Given the description of an element on the screen output the (x, y) to click on. 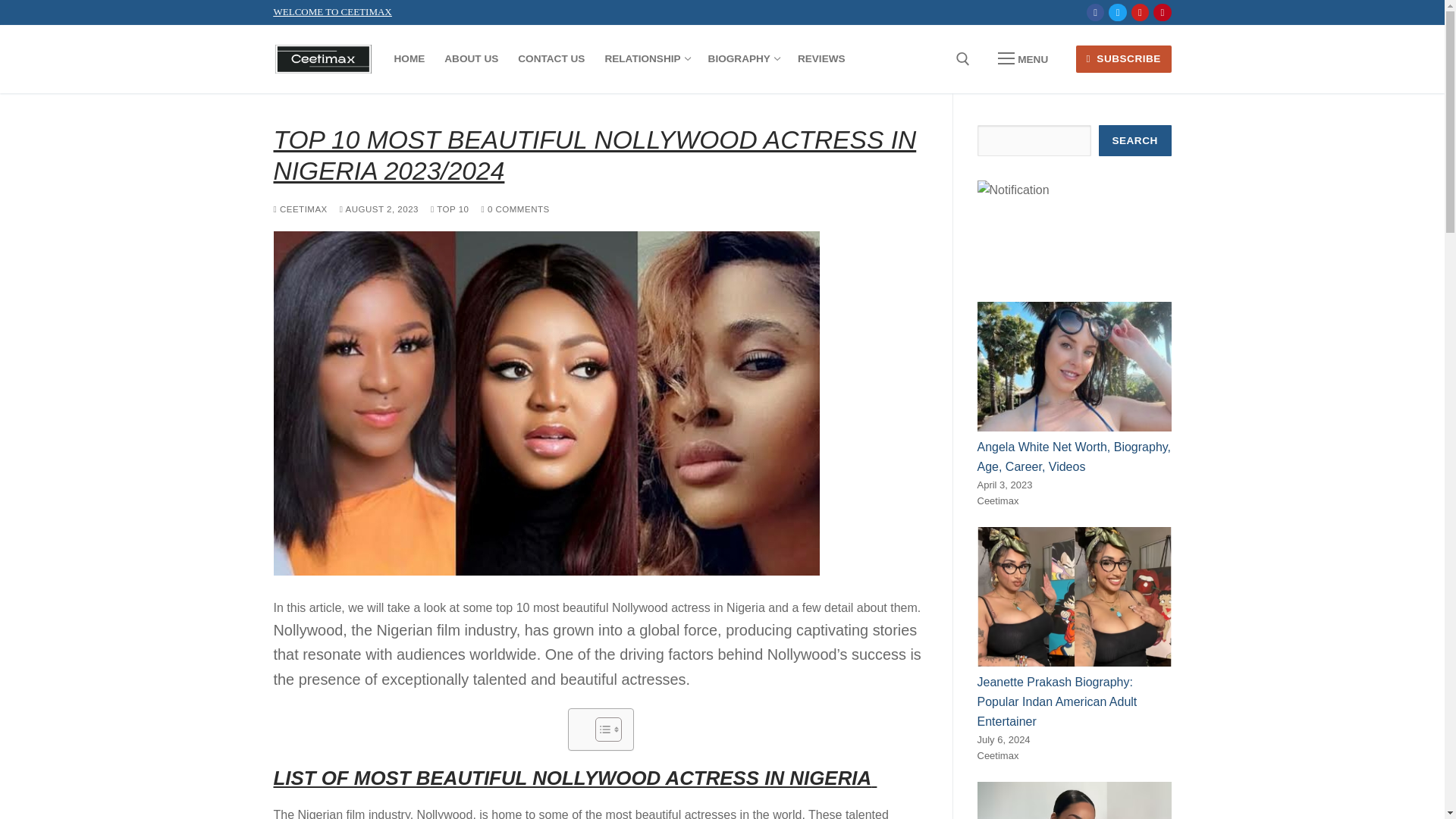
REVIEWS (821, 59)
Twitter (742, 59)
ABOUT US (1117, 12)
CONTACT US (470, 59)
HOME (551, 59)
Facebook (408, 59)
Youtube (645, 59)
Pinterest (1095, 12)
